Given the description of an element on the screen output the (x, y) to click on. 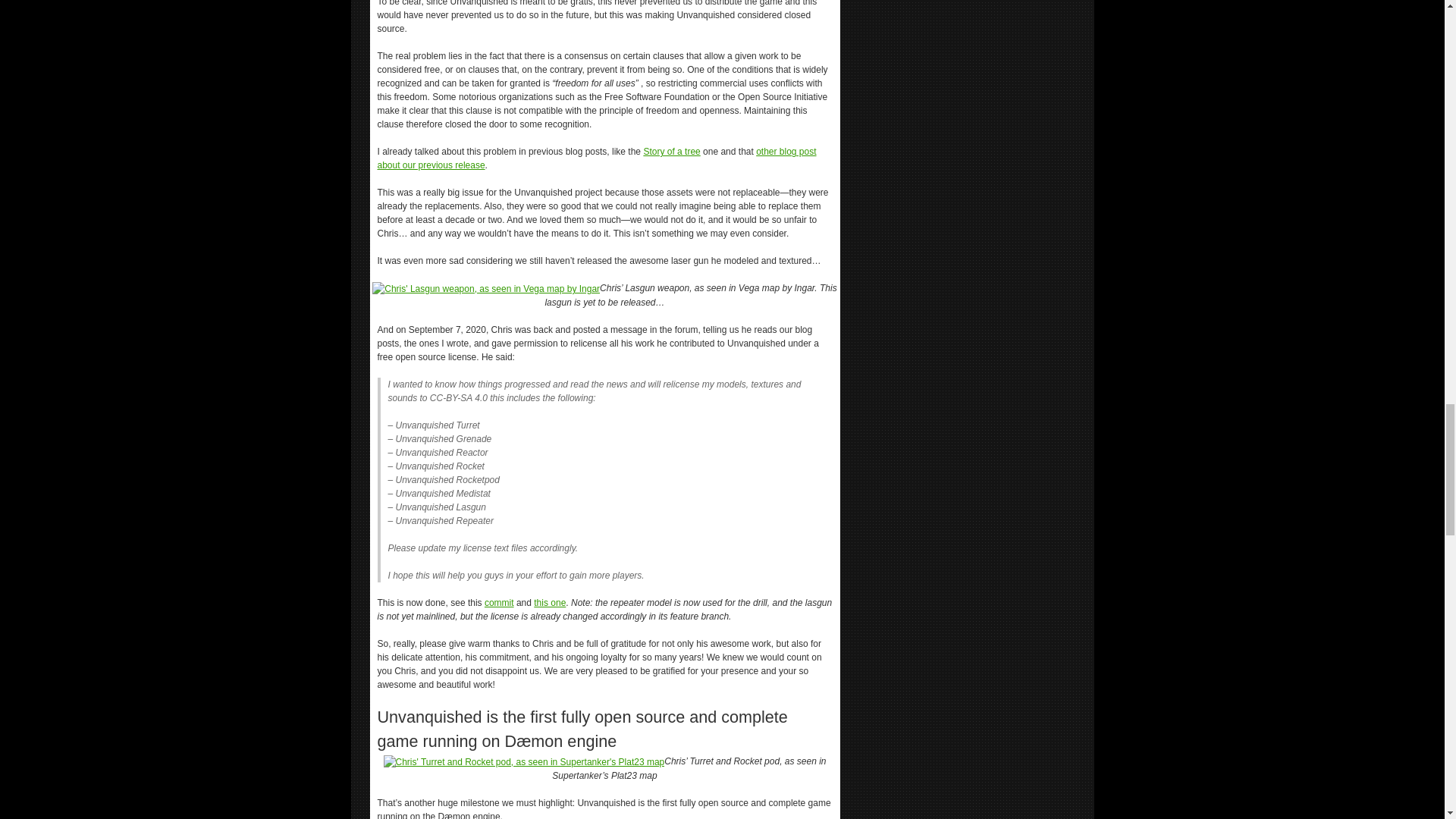
Chris' Lasgun weapon, as seen in Vega map by Ingar (485, 288)
